Given the description of an element on the screen output the (x, y) to click on. 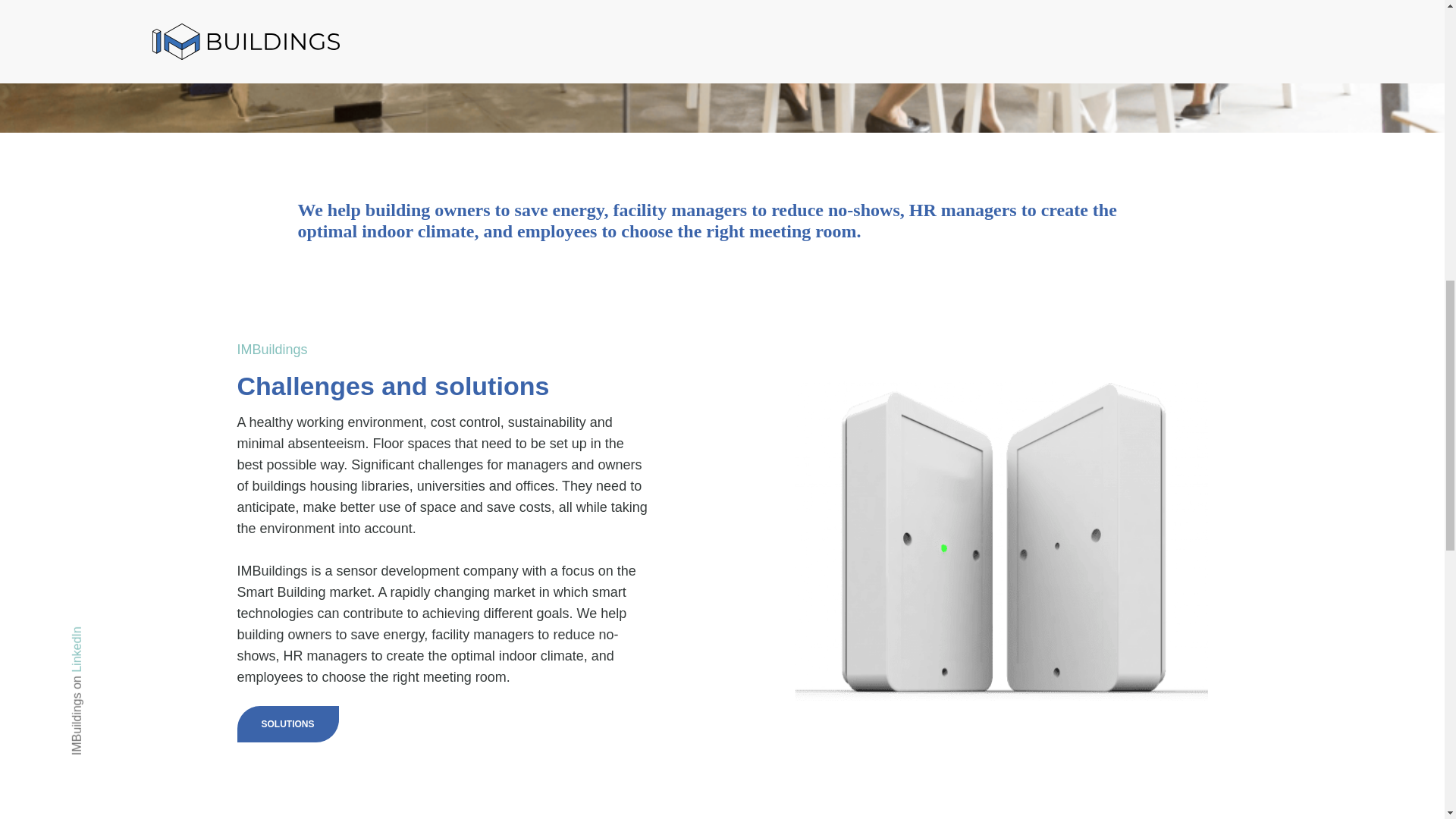
SOLUTIONS (286, 723)
